Given the description of an element on the screen output the (x, y) to click on. 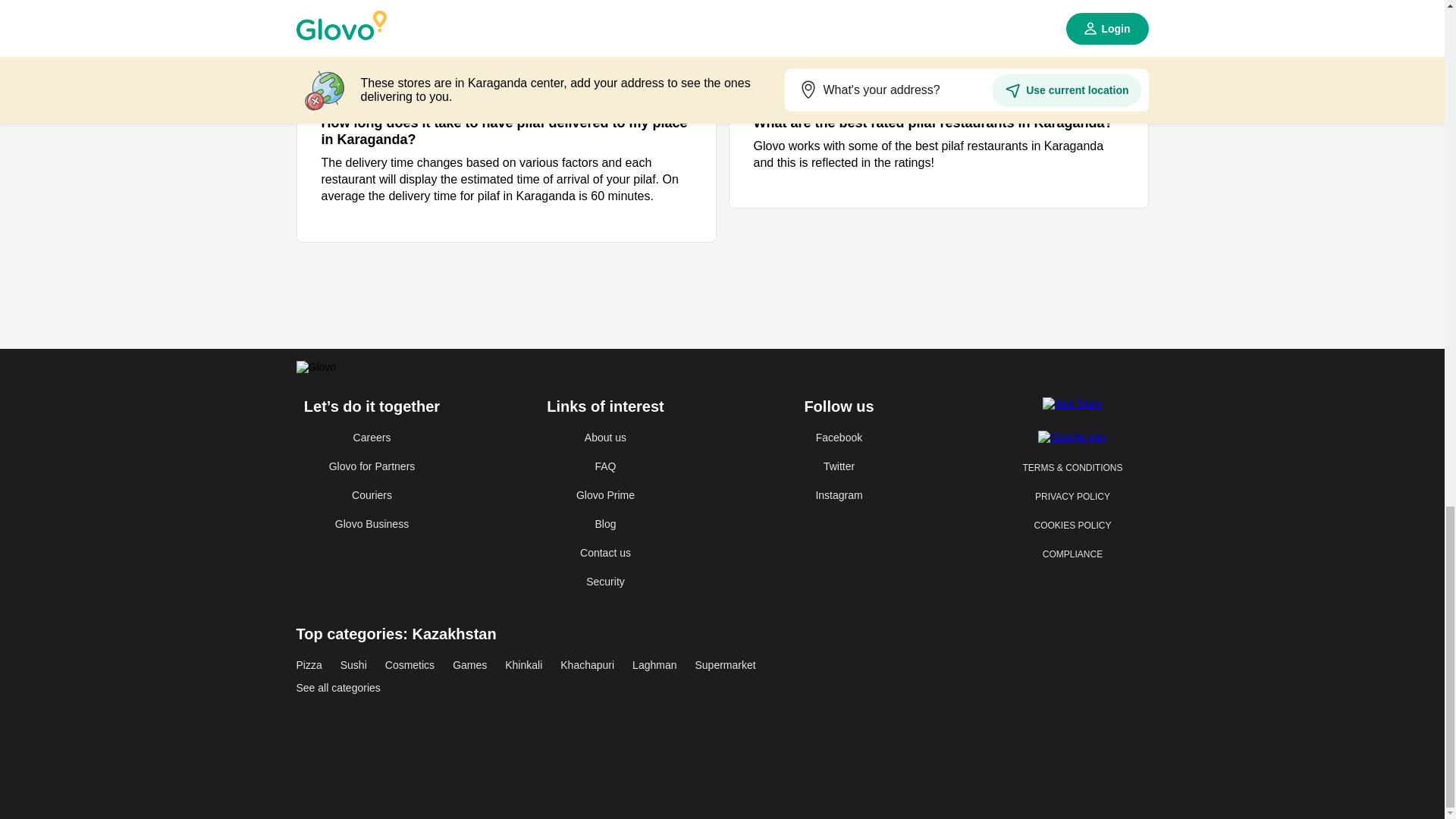
Steak (368, 93)
Traditional (368, 205)
Turkish (368, 242)
Soup (368, 56)
Sushi (368, 130)
Snacks (368, 19)
